Given the description of an element on the screen output the (x, y) to click on. 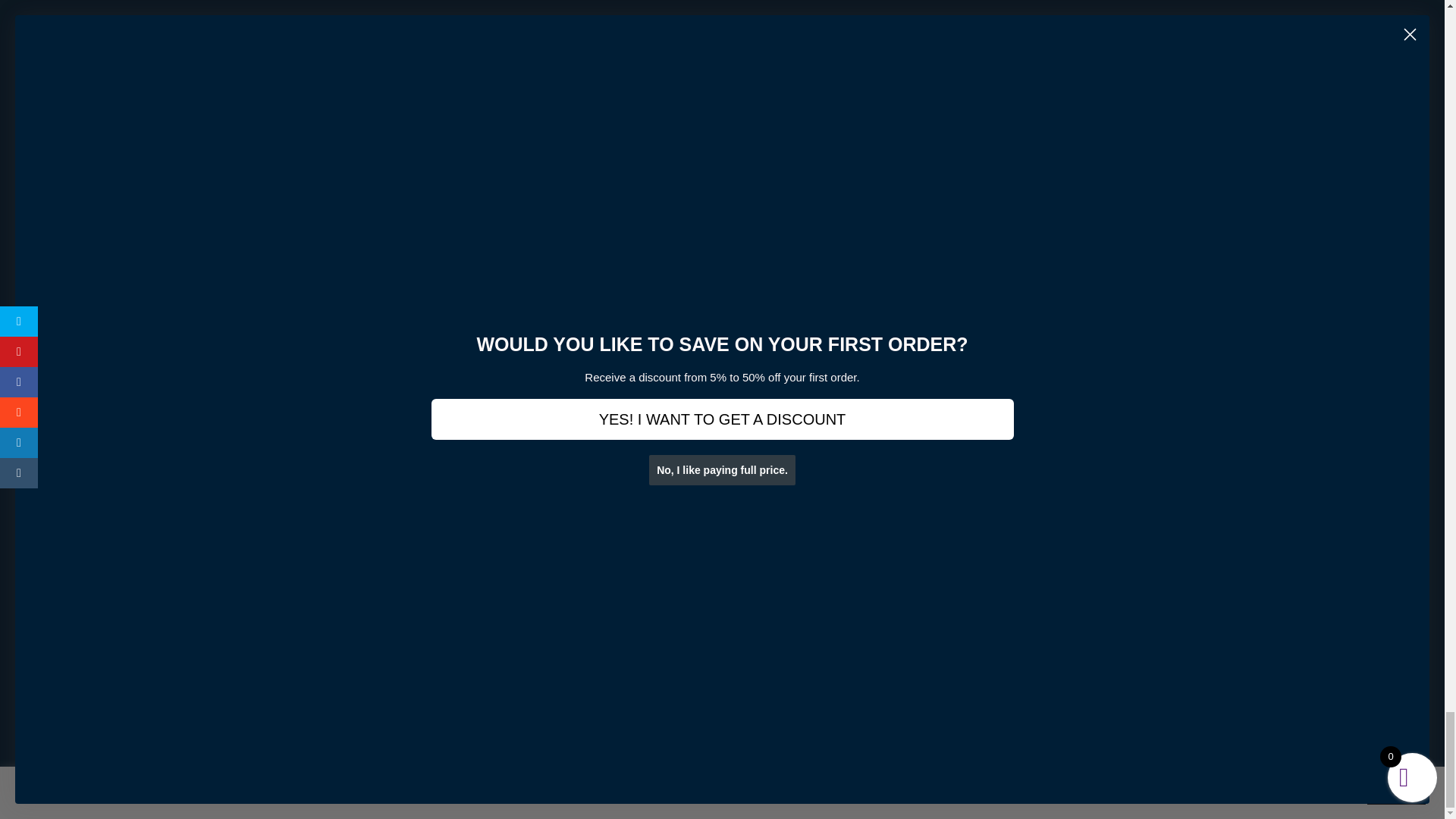
Arabic (569, 781)
Follow on X (996, 482)
Dutch (646, 781)
Danish (622, 781)
Follow on Pinterest (1056, 482)
Follow on Instagram (1026, 482)
Croatian (594, 781)
Finnish (697, 781)
visa-electron (904, 84)
apple-pay (675, 84)
mastercard (599, 84)
visa (827, 84)
Follow on Facebook (965, 482)
google-pay (751, 84)
English (673, 781)
